Given the description of an element on the screen output the (x, y) to click on. 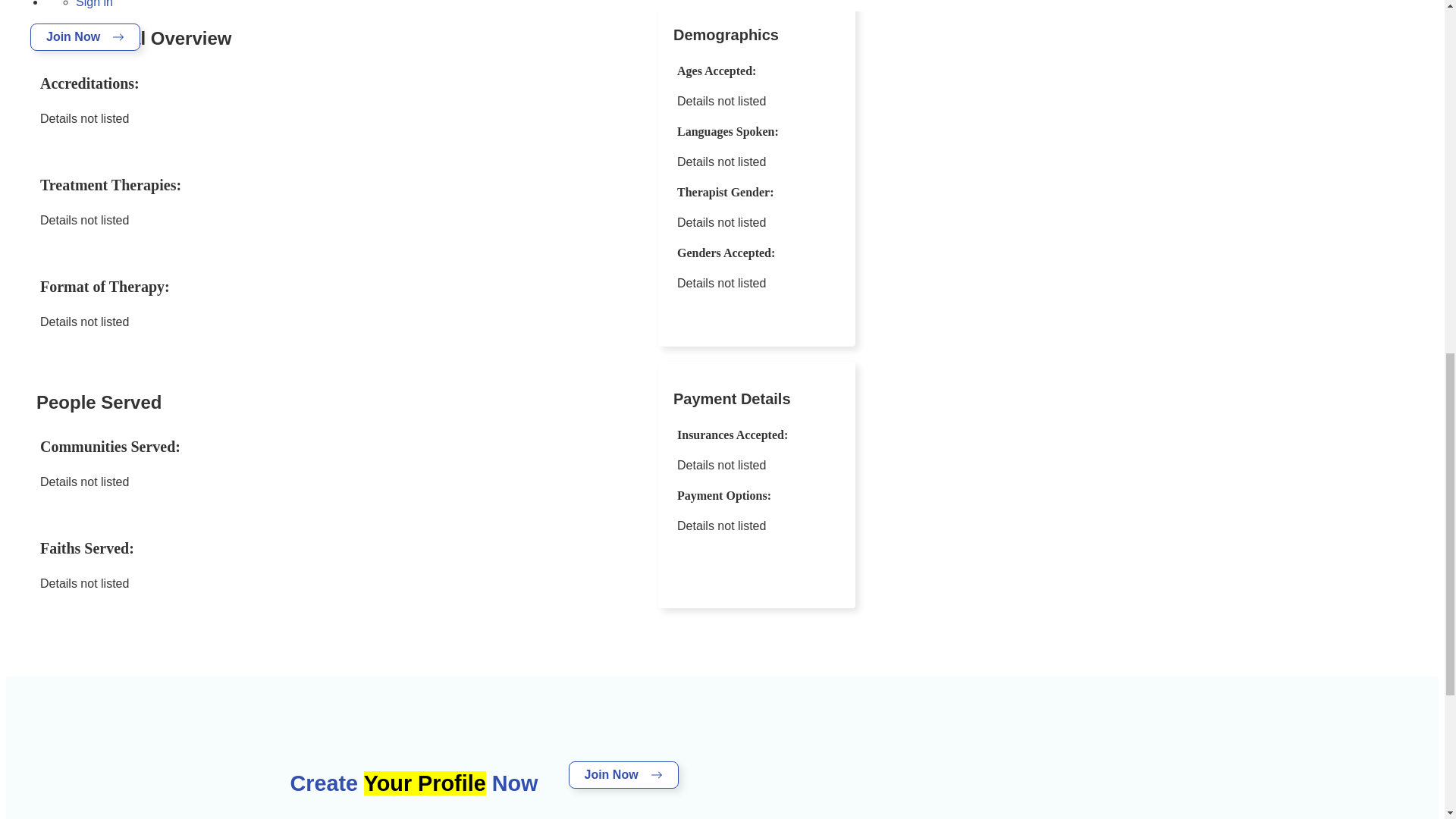
Join Now (623, 774)
